Given the description of an element on the screen output the (x, y) to click on. 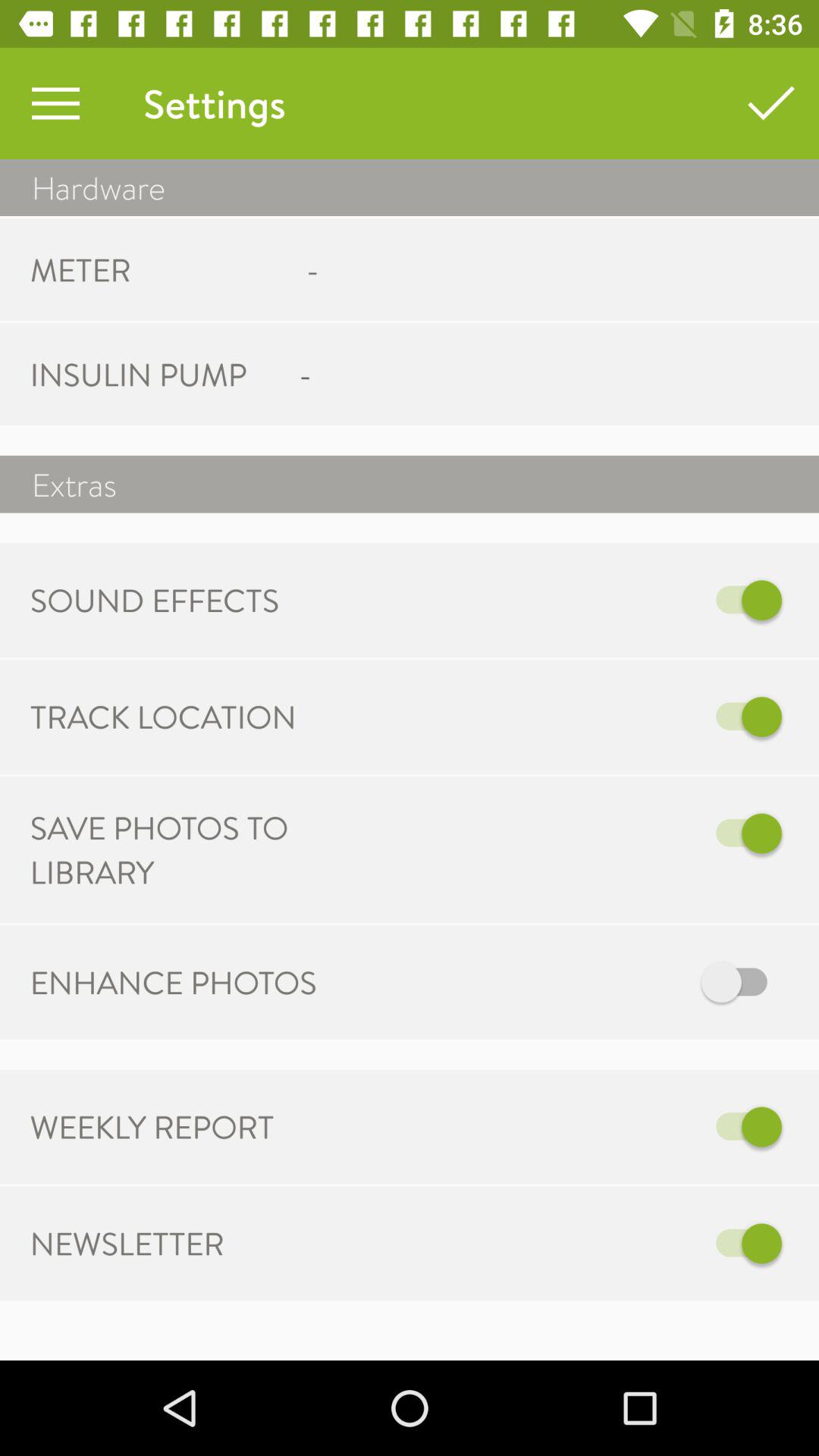
turn on icon next to sound effects (622, 600)
